Given the description of an element on the screen output the (x, y) to click on. 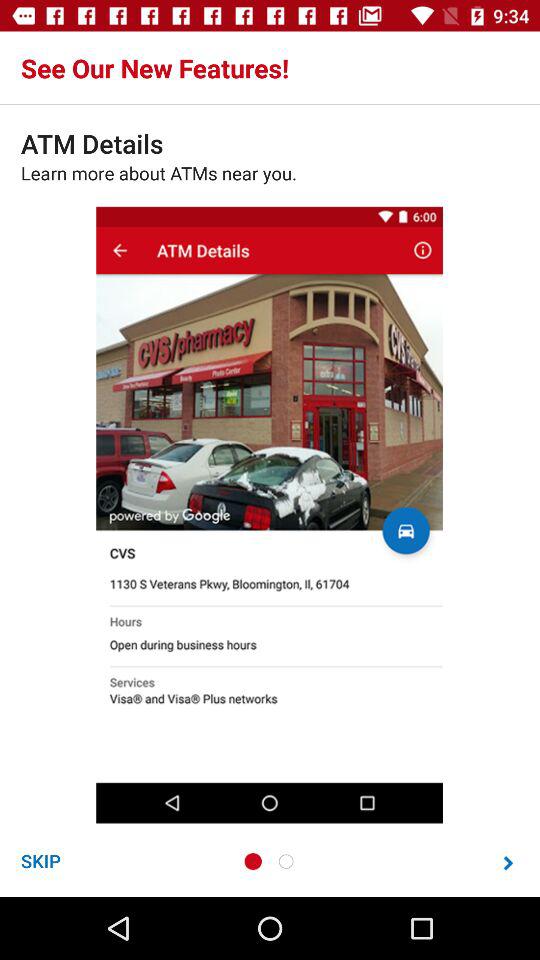
next page (508, 862)
